Given the description of an element on the screen output the (x, y) to click on. 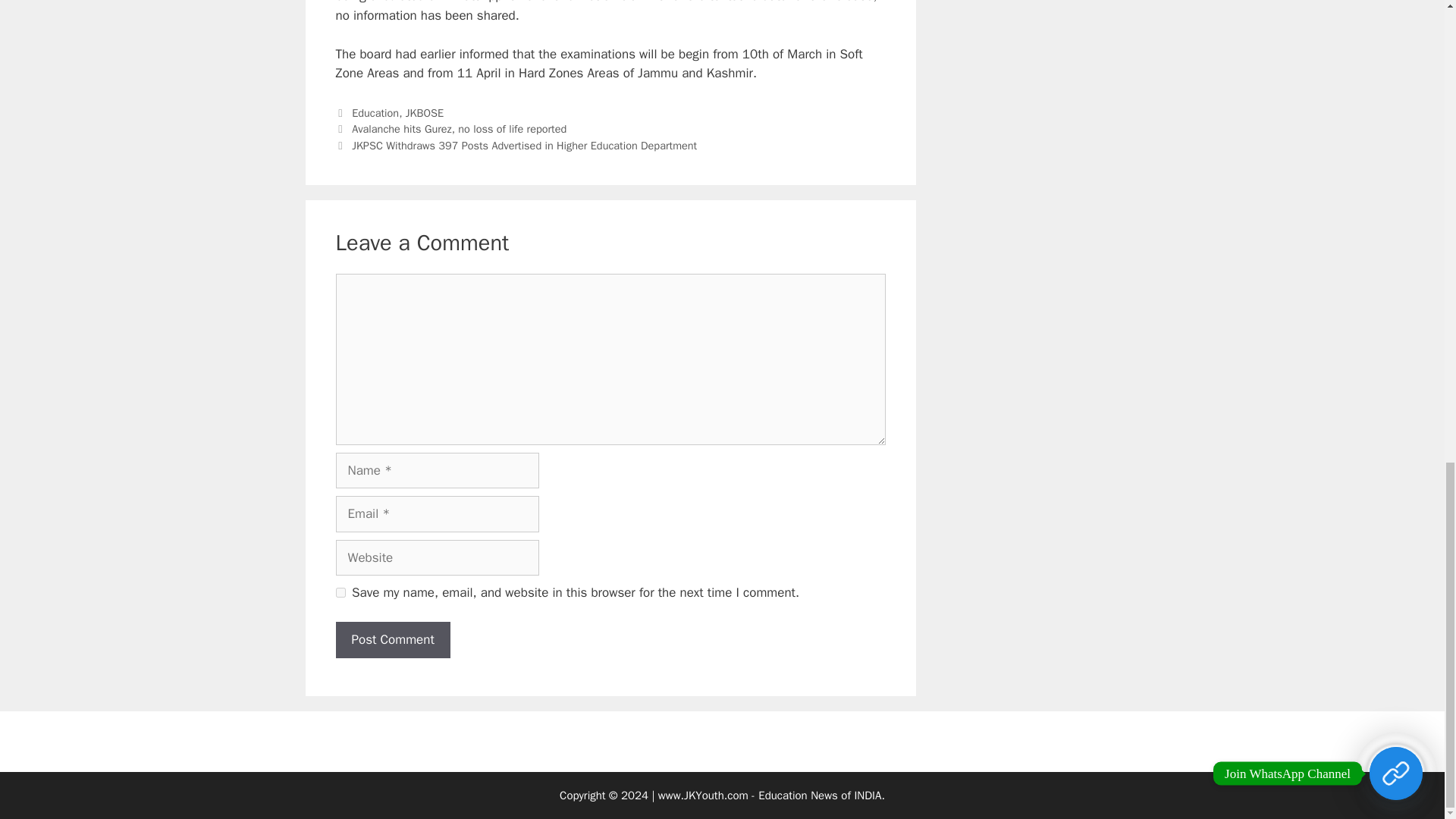
JKBOSE (425, 112)
Post Comment (391, 639)
Post Comment (391, 639)
yes (339, 592)
Education (375, 112)
Avalanche hits Gurez, no loss of life reported (459, 128)
